Given the description of an element on the screen output the (x, y) to click on. 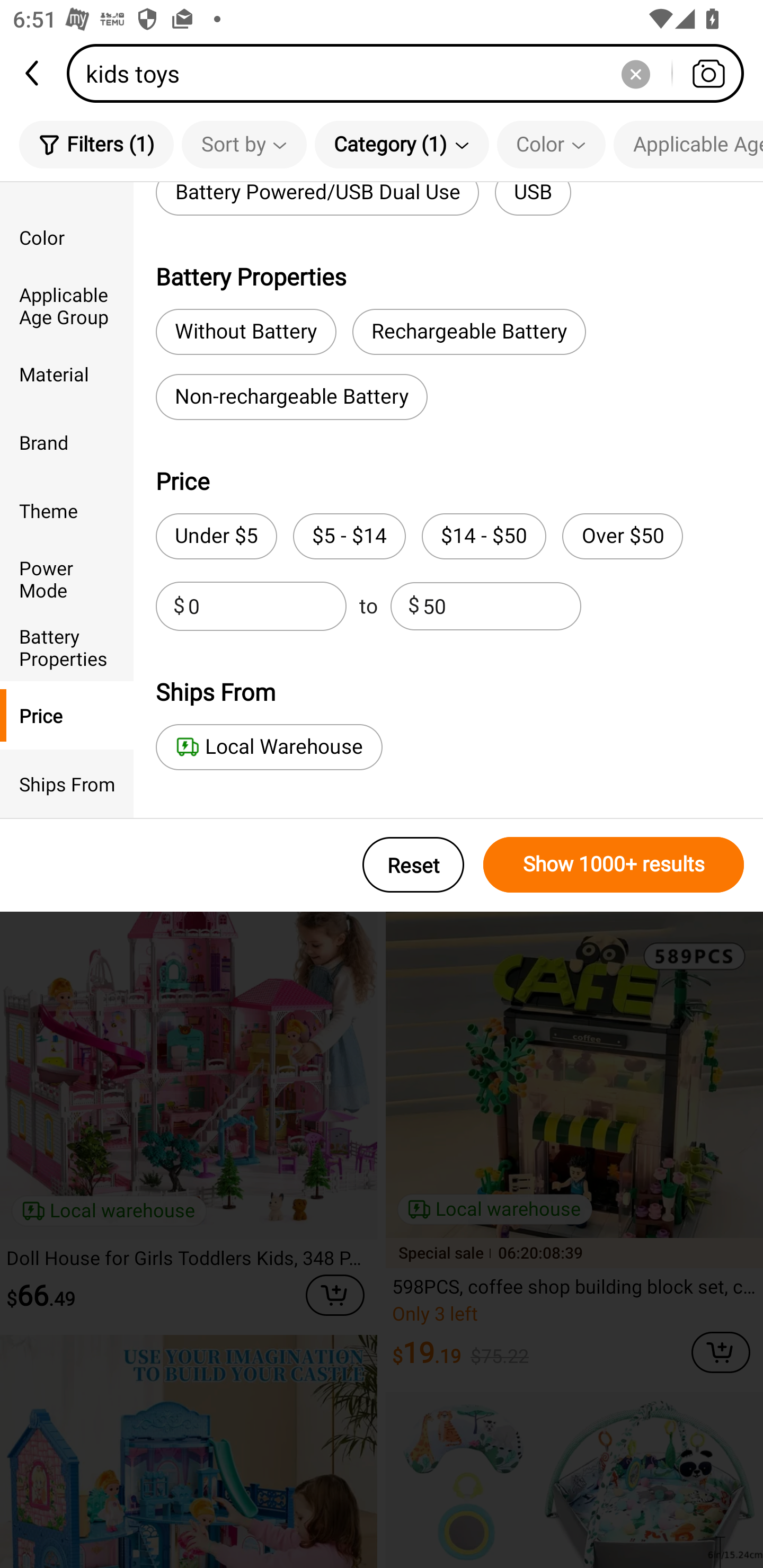
back (33, 72)
kids toys (411, 73)
Delete search history (635, 73)
Search by photo (708, 73)
Filters (1) (96, 143)
Sort by (243, 143)
Category (1) (401, 143)
Color (550, 143)
Applicable Age Group (688, 143)
Battery Powered/USB Dual Use (317, 198)
USB (533, 198)
Color (66, 236)
Applicable Age Group (66, 305)
Without Battery (245, 331)
Rechargeable Battery (468, 331)
Material (66, 373)
Non-rechargeable Battery (291, 397)
Brand (66, 441)
Theme (66, 510)
Under $5 (215, 535)
$5 - $14 (348, 535)
$14 - $50 (483, 535)
Over $50 (622, 535)
Power Mode (66, 578)
$ 0 to $ 50 (368, 605)
Battery Properties (66, 646)
Price (66, 714)
Local Warehouse (268, 746)
Ships From (66, 783)
Reset (412, 864)
Show 1000+ results (612, 864)
